Given the description of an element on the screen output the (x, y) to click on. 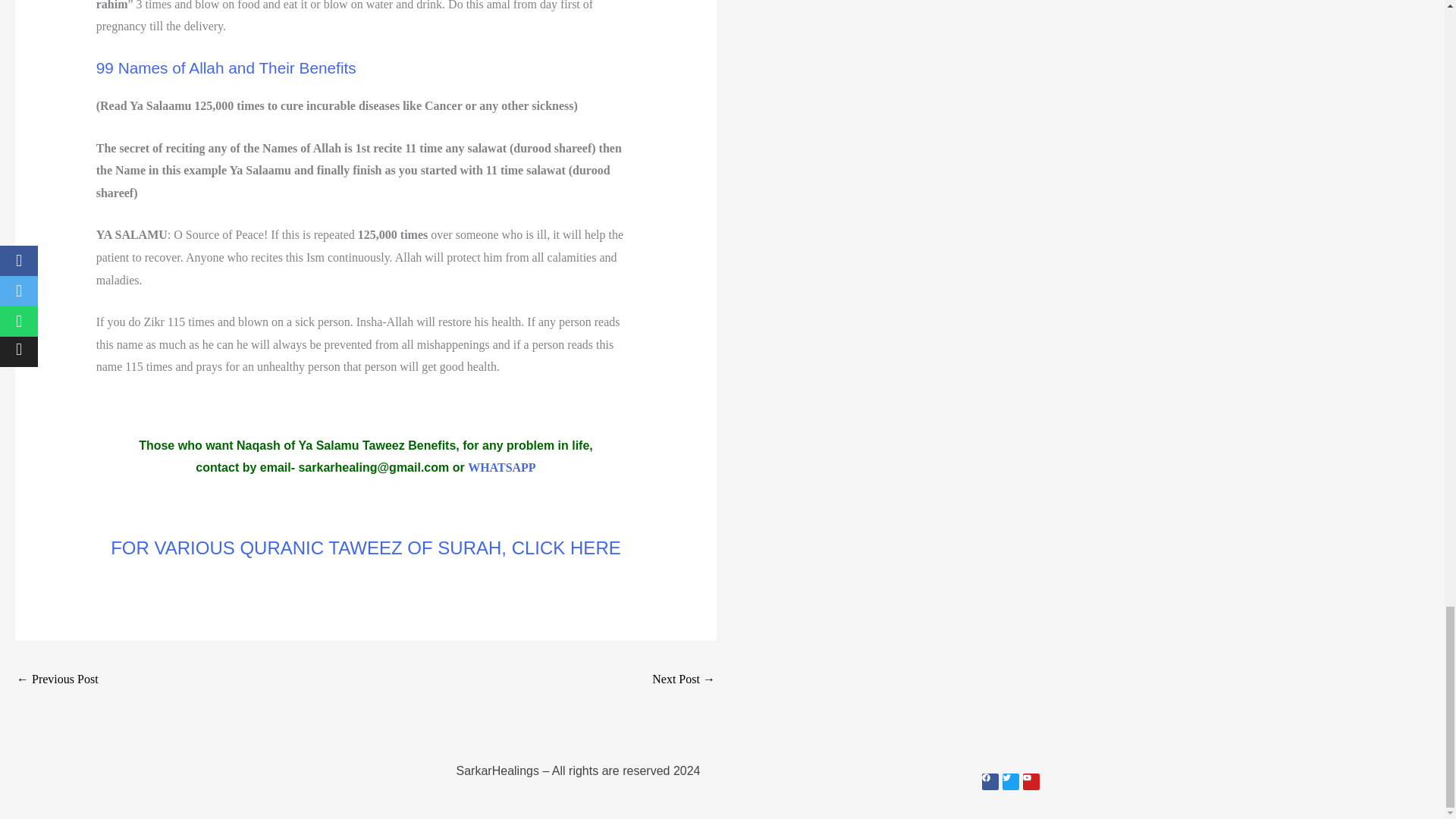
Twitter (1011, 781)
WHATSAPP (501, 467)
Youtube (1030, 781)
Facebook (989, 781)
Ya Mutakabbir Wazifa Benefits of Zikrullah (683, 680)
99 Names of Allah and Their Benefits (226, 67)
Benefits of Zikrullah Ya Azizu Wazifa (57, 680)
FOR VARIOUS QURANIC TAWEEZ OF SURAH, CLICK HERE (365, 547)
